Given the description of an element on the screen output the (x, y) to click on. 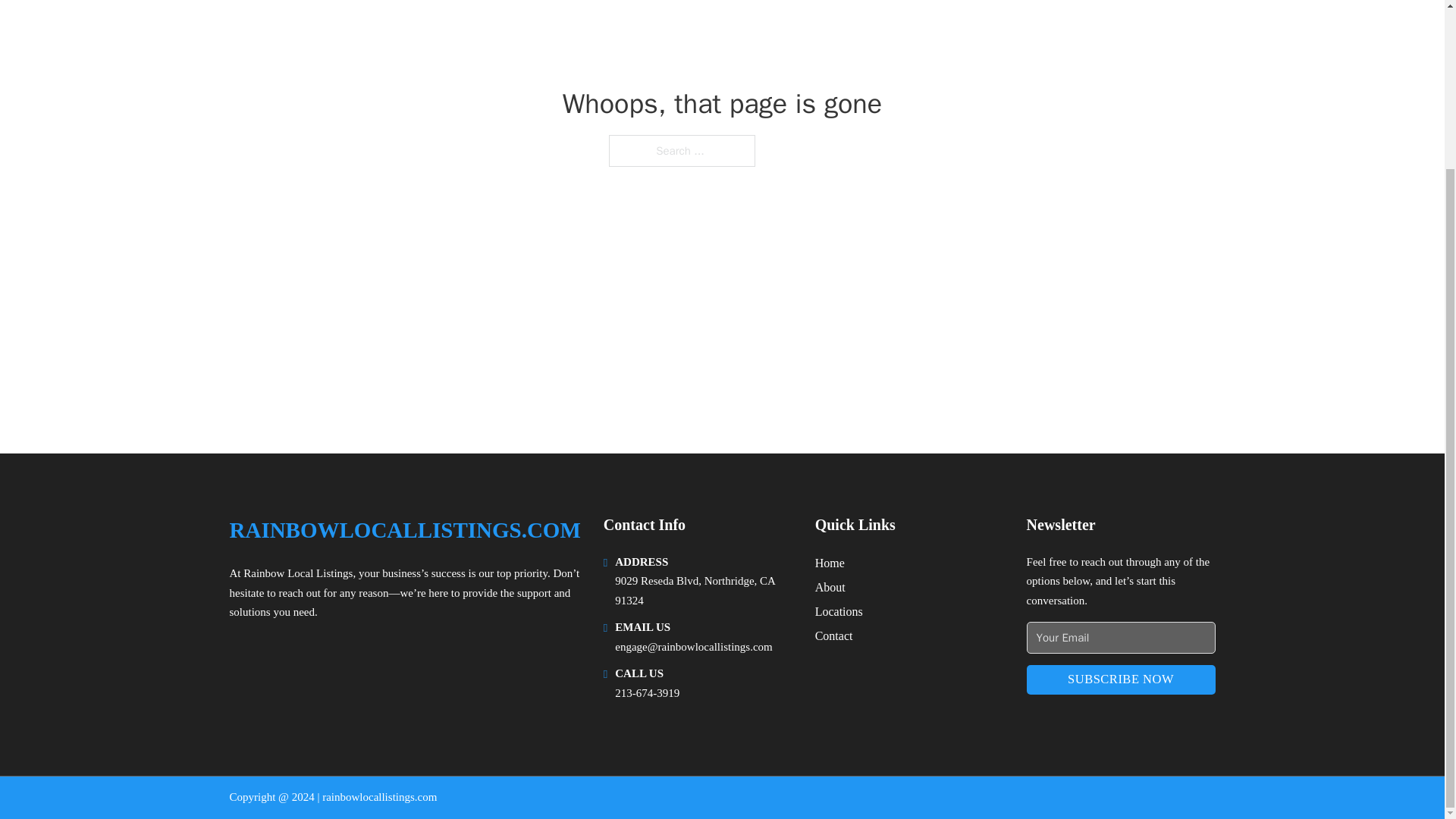
Home (829, 562)
About (830, 587)
Contact (834, 635)
Locations (839, 611)
SUBSCRIBE NOW (1120, 679)
RAINBOWLOCALLISTINGS.COM (403, 529)
213-674-3919 (646, 693)
